Given the description of an element on the screen output the (x, y) to click on. 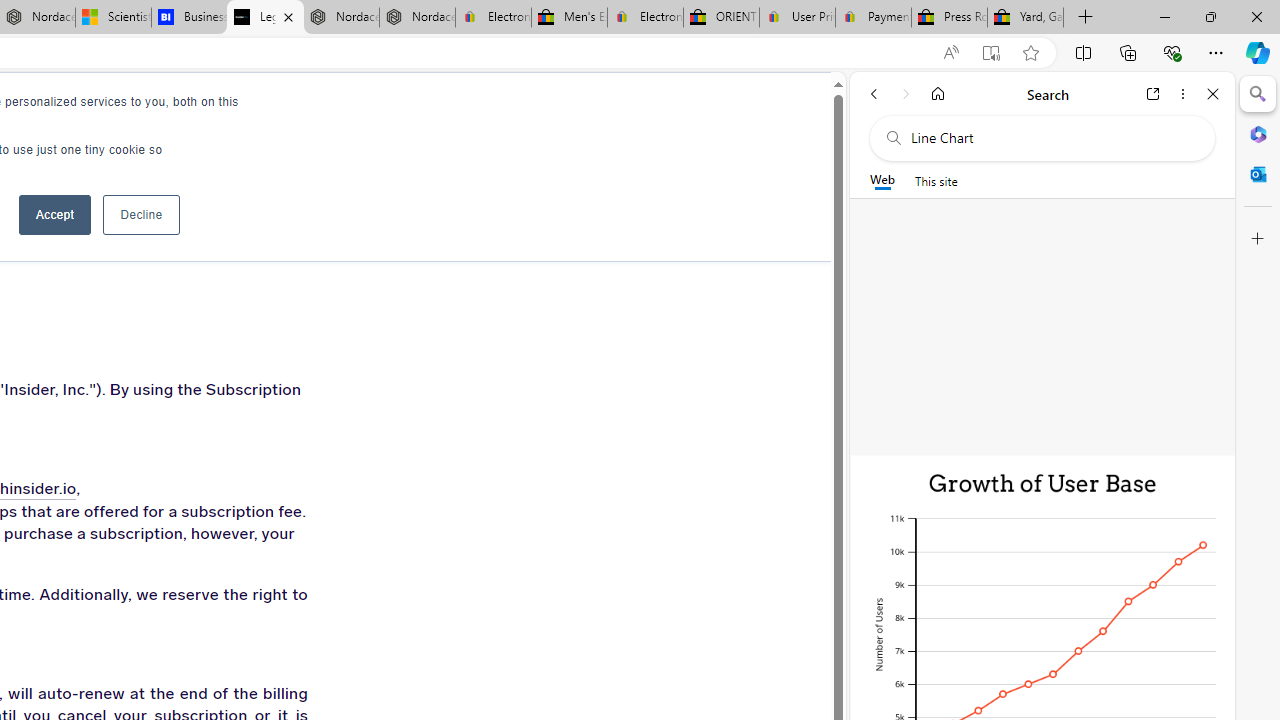
Accept (54, 214)
Payments Terms of Use | eBay.com (873, 17)
Yard, Garden & Outdoor Living (1025, 17)
